Given the description of an element on the screen output the (x, y) to click on. 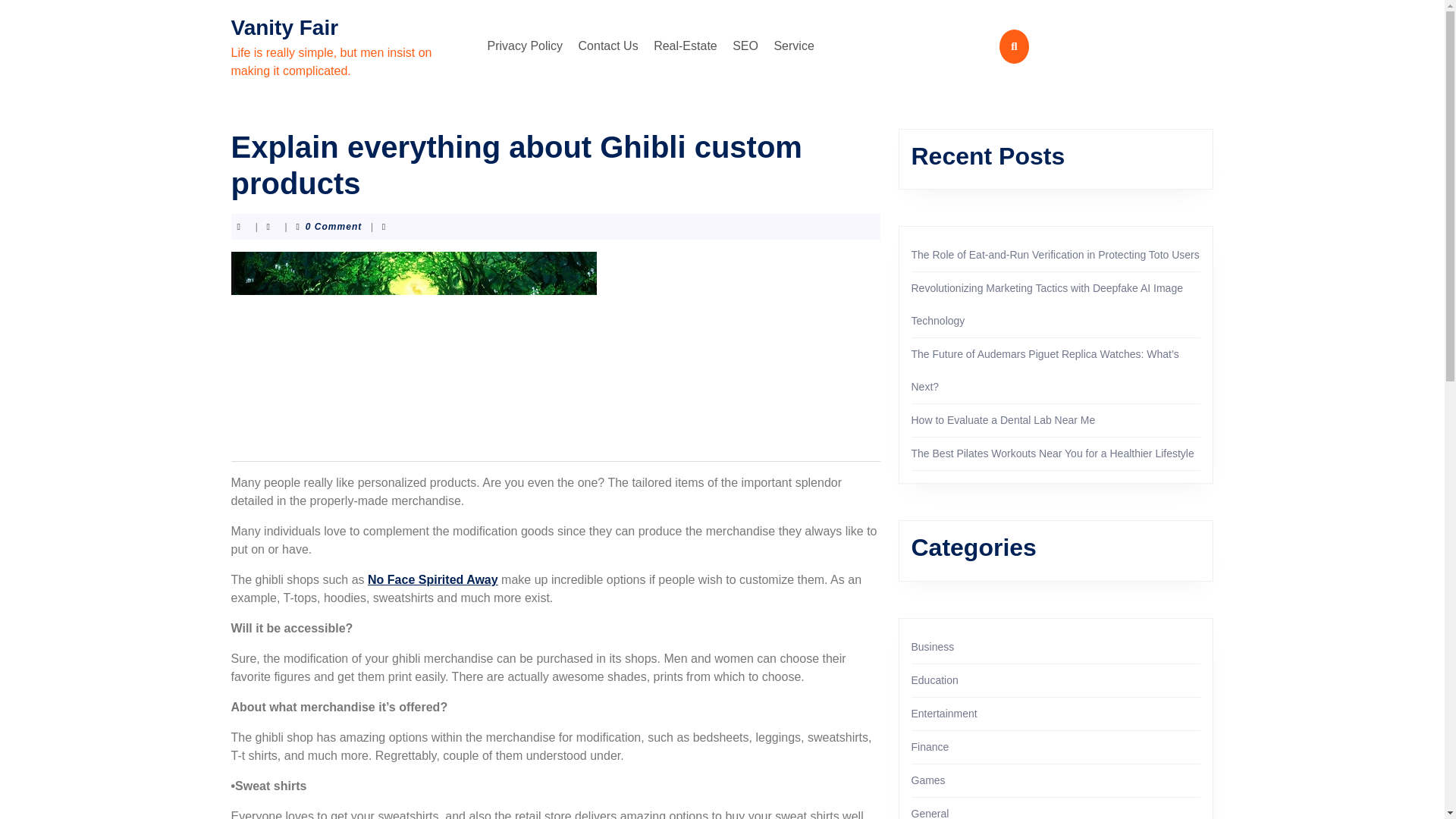
Games (927, 779)
Service (793, 46)
How to Evaluate a Dental Lab Near Me (1003, 419)
General (930, 813)
Privacy Policy (524, 46)
Education (934, 680)
Business (933, 646)
The Best Pilates Workouts Near You for a Healthier Lifestyle (1052, 453)
Vanity Fair (283, 27)
No Face Spirited Away (432, 579)
